Given the description of an element on the screen output the (x, y) to click on. 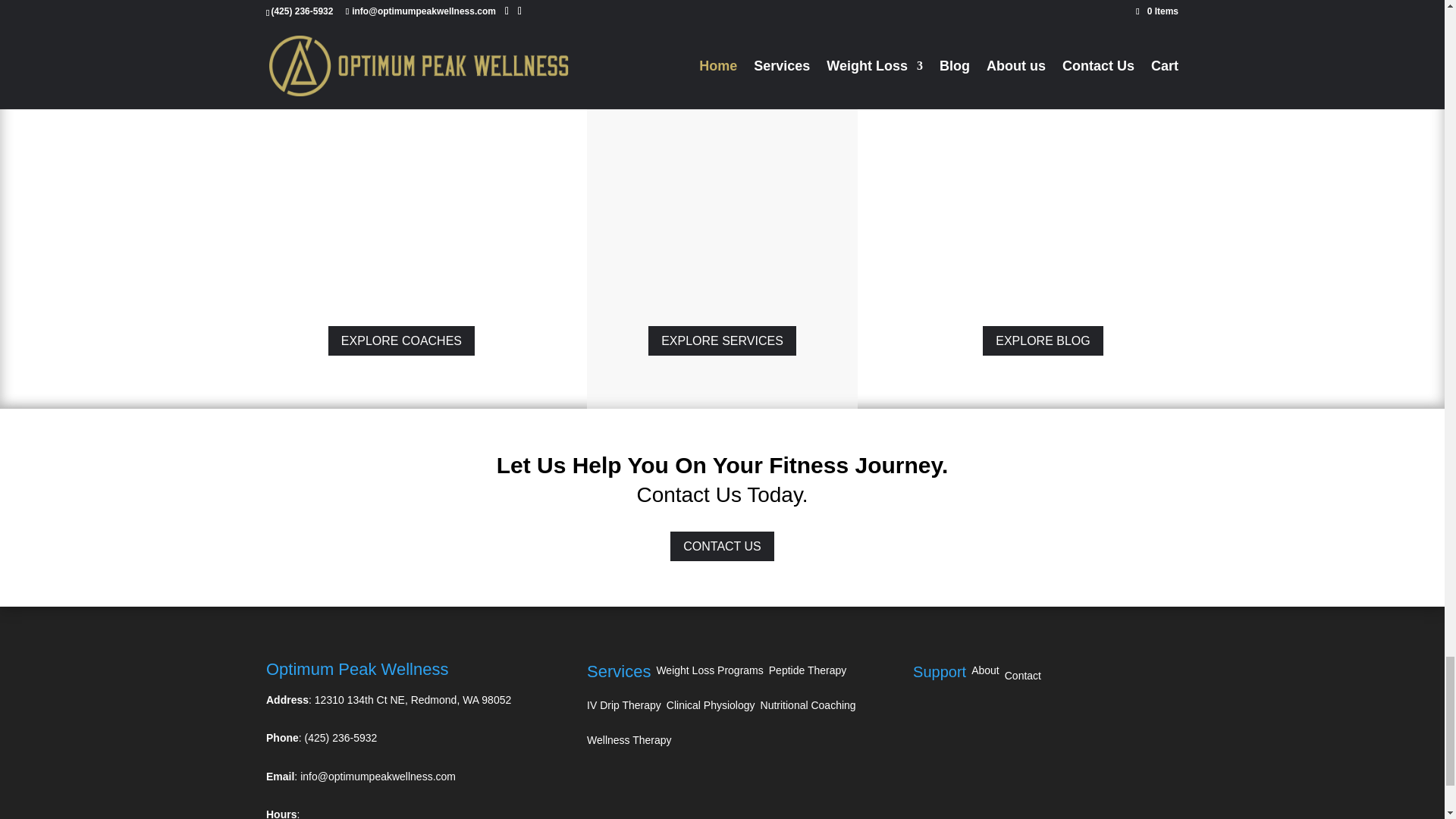
EXPLORE COACHES (401, 340)
EXPLORE SERVICES (721, 340)
CONTACT US (721, 546)
EXPLORE BLOG (1042, 340)
